Given the description of an element on the screen output the (x, y) to click on. 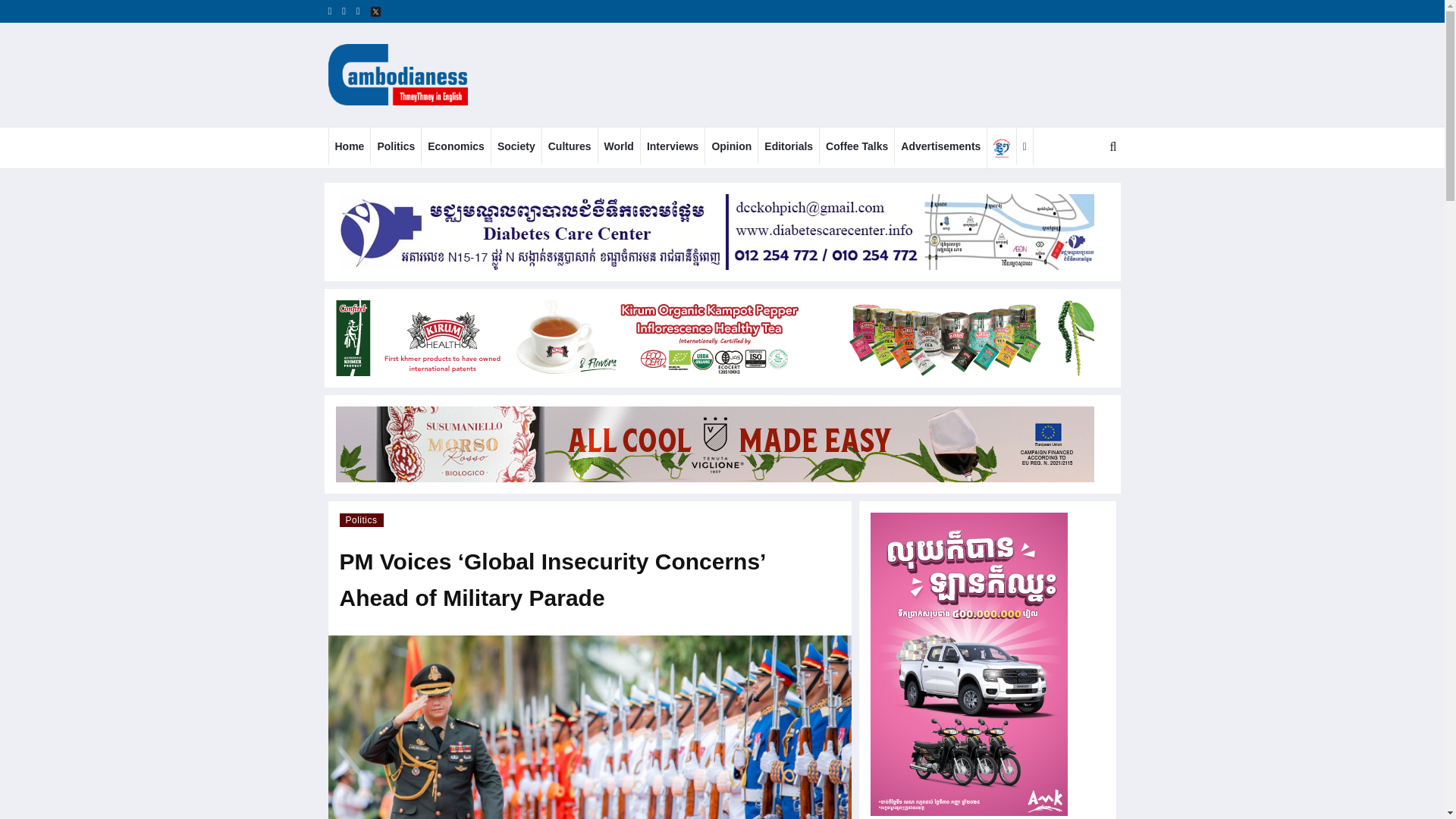
World (619, 146)
Interviews (672, 146)
Politics (361, 520)
Politics (395, 146)
Coffee Talks (856, 146)
Economics (456, 146)
Society (516, 146)
Editorials (788, 146)
Opinion (730, 146)
Advertisements (941, 146)
Cultures (568, 146)
Home (350, 146)
